Given the description of an element on the screen output the (x, y) to click on. 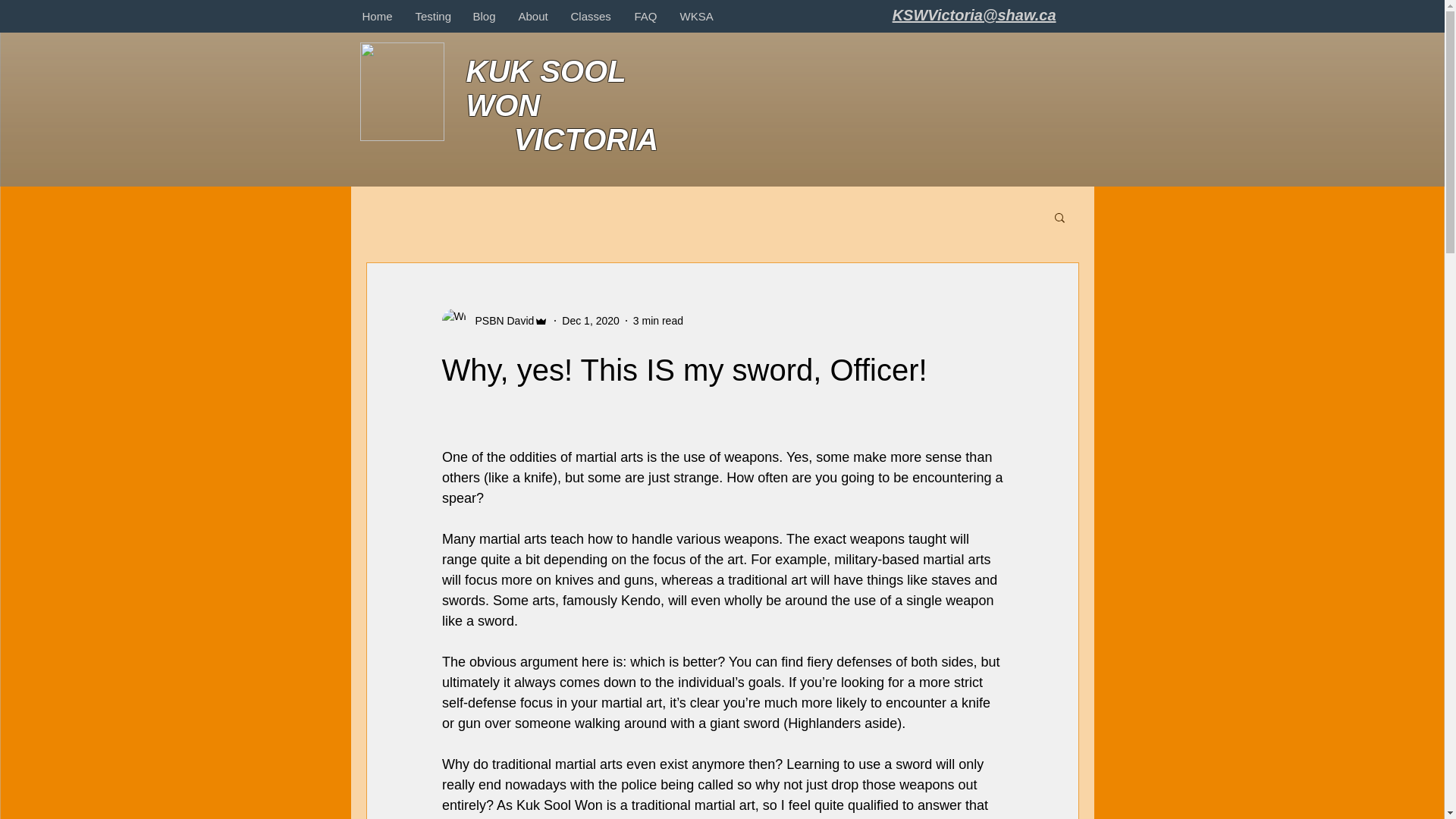
PSBN David (499, 320)
Blog (483, 15)
Testing (432, 15)
WKSA (695, 15)
About (532, 15)
3 min read (657, 319)
FAQ (645, 15)
Dec 1, 2020 (591, 319)
Home (376, 15)
Classes (591, 15)
